Given the description of an element on the screen output the (x, y) to click on. 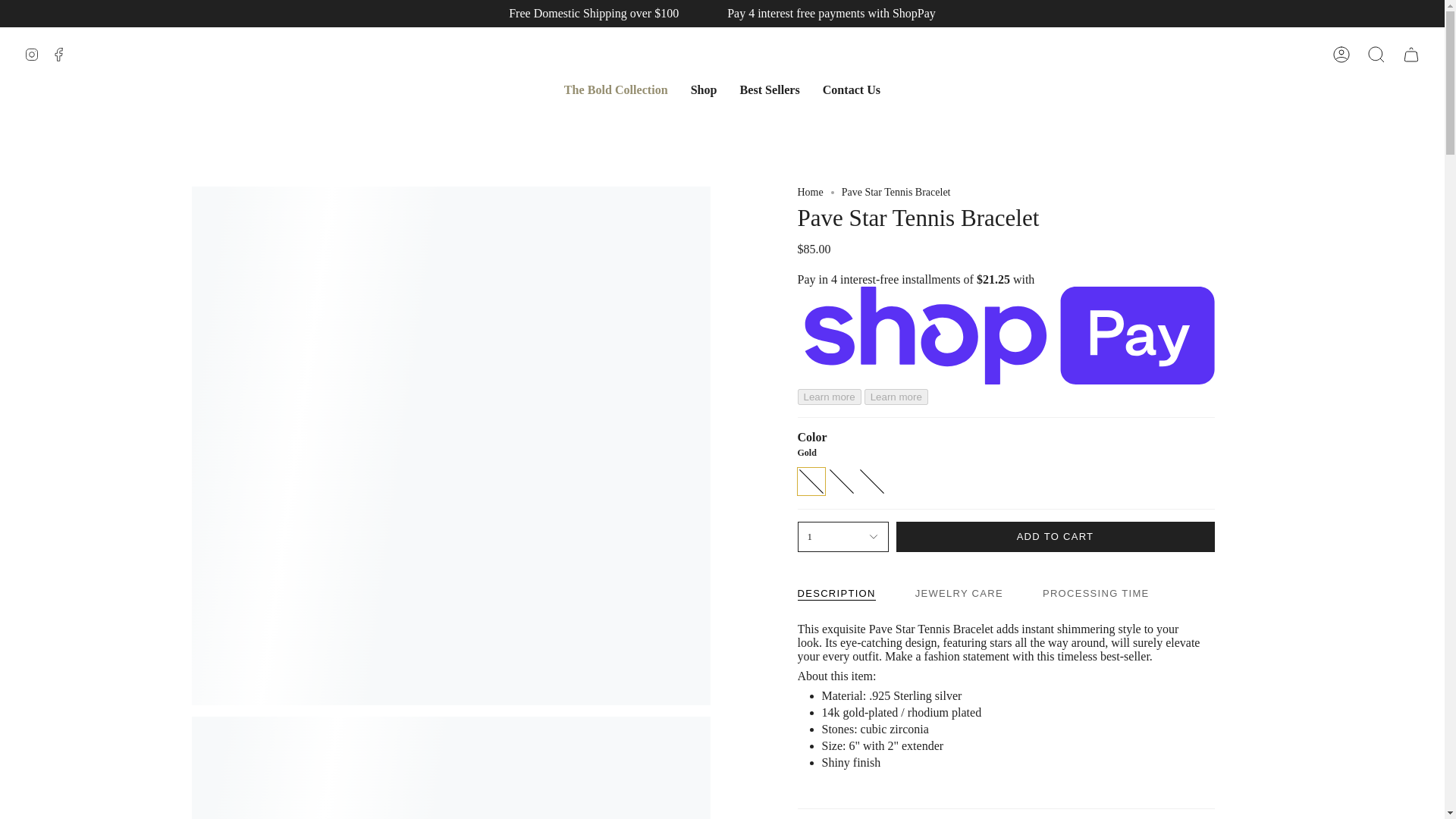
Cart (1410, 54)
The Bold Collection (616, 89)
Cart (1410, 54)
Shop (704, 89)
My Account (1340, 54)
Search (1375, 54)
Account (1340, 54)
